Given the description of an element on the screen output the (x, y) to click on. 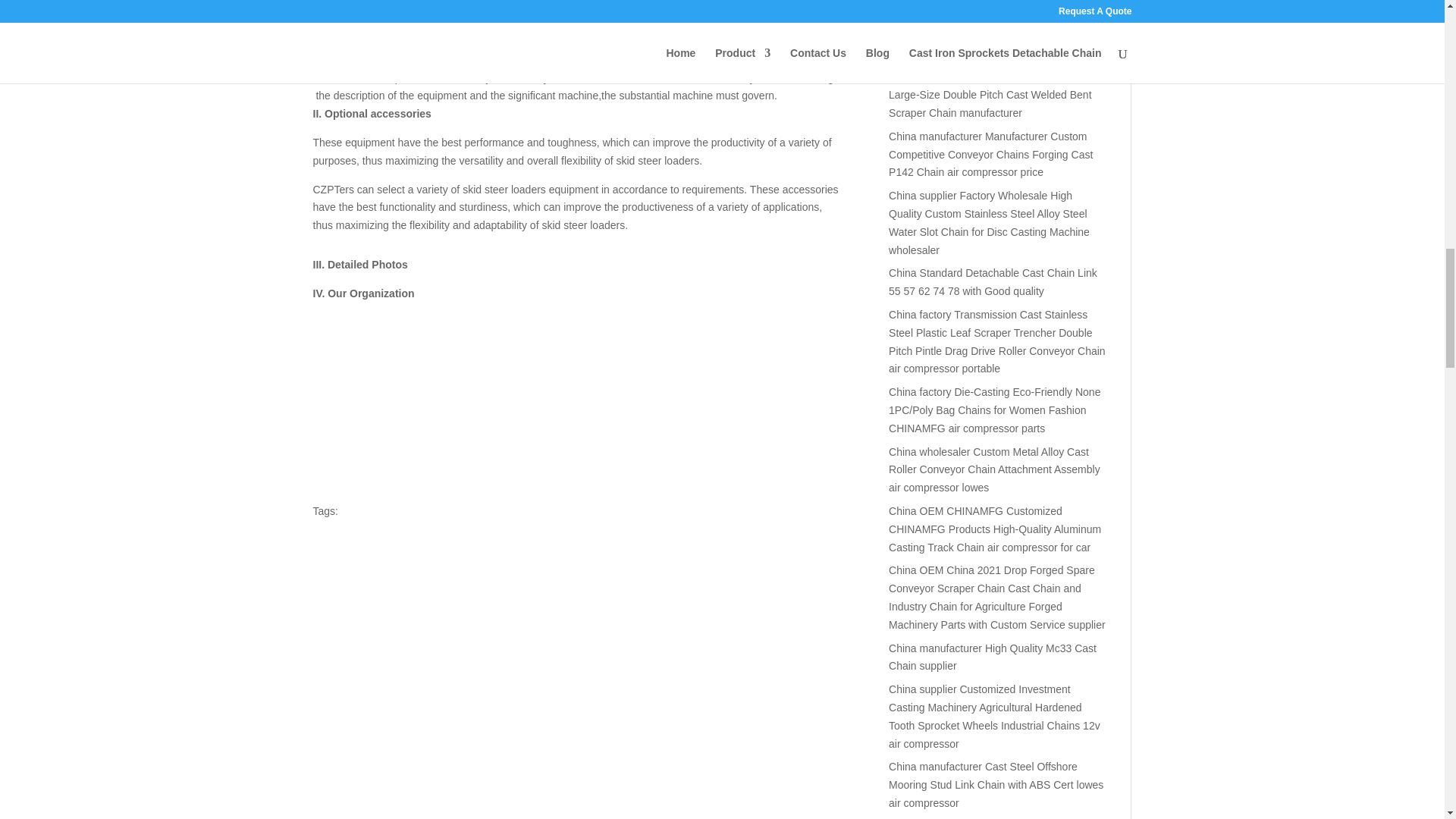
Newbrand CS100 75HP 650kg Skid Steer Loader with Attachments (426, 417)
